Given the description of an element on the screen output the (x, y) to click on. 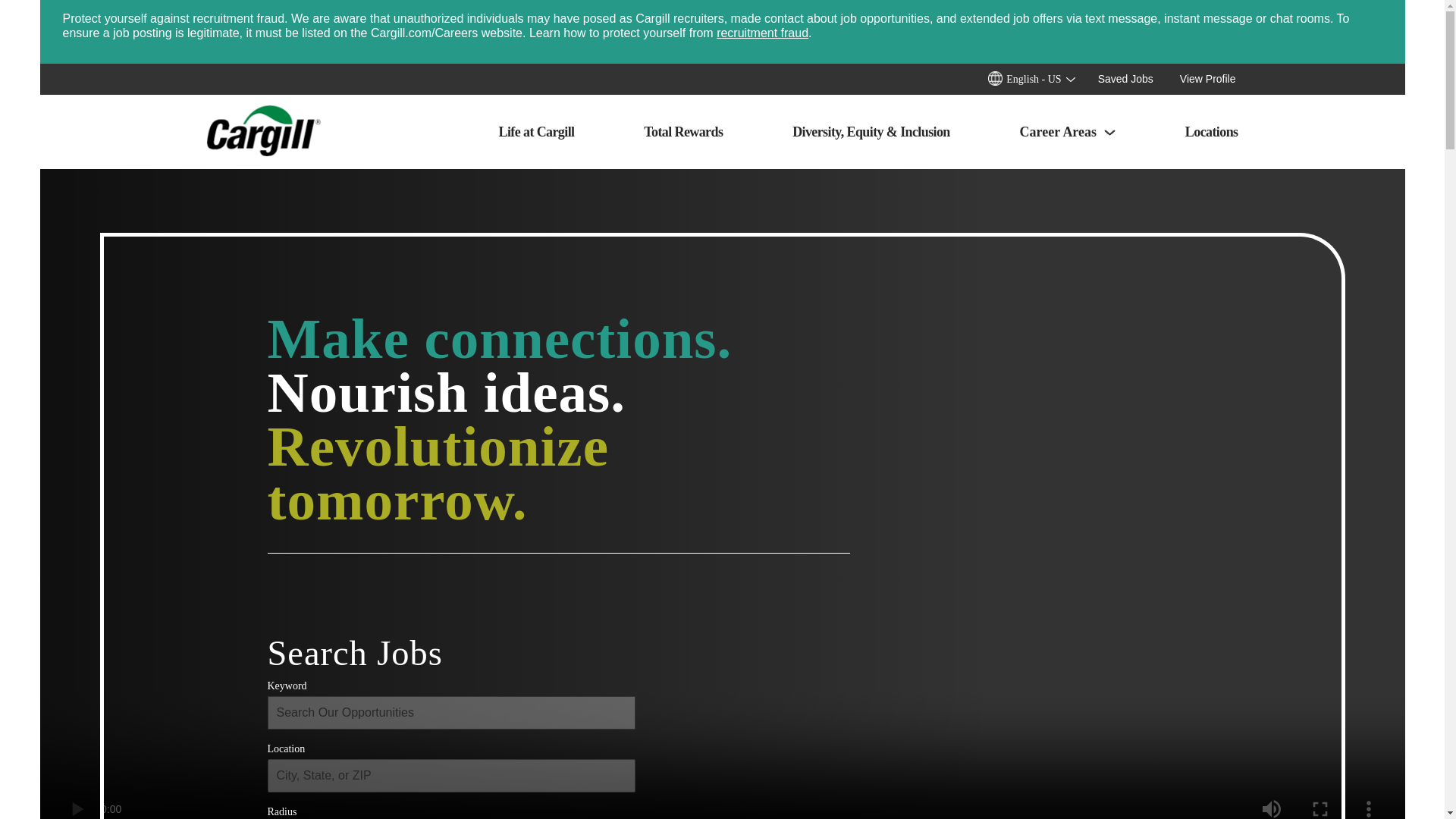
Life at Cargill (537, 132)
View Profile (1208, 78)
Saved Jobs (1137, 78)
Career Areas (1067, 132)
recruitment fraud (762, 32)
Total Rewards (682, 132)
English - US (1042, 78)
